Given the description of an element on the screen output the (x, y) to click on. 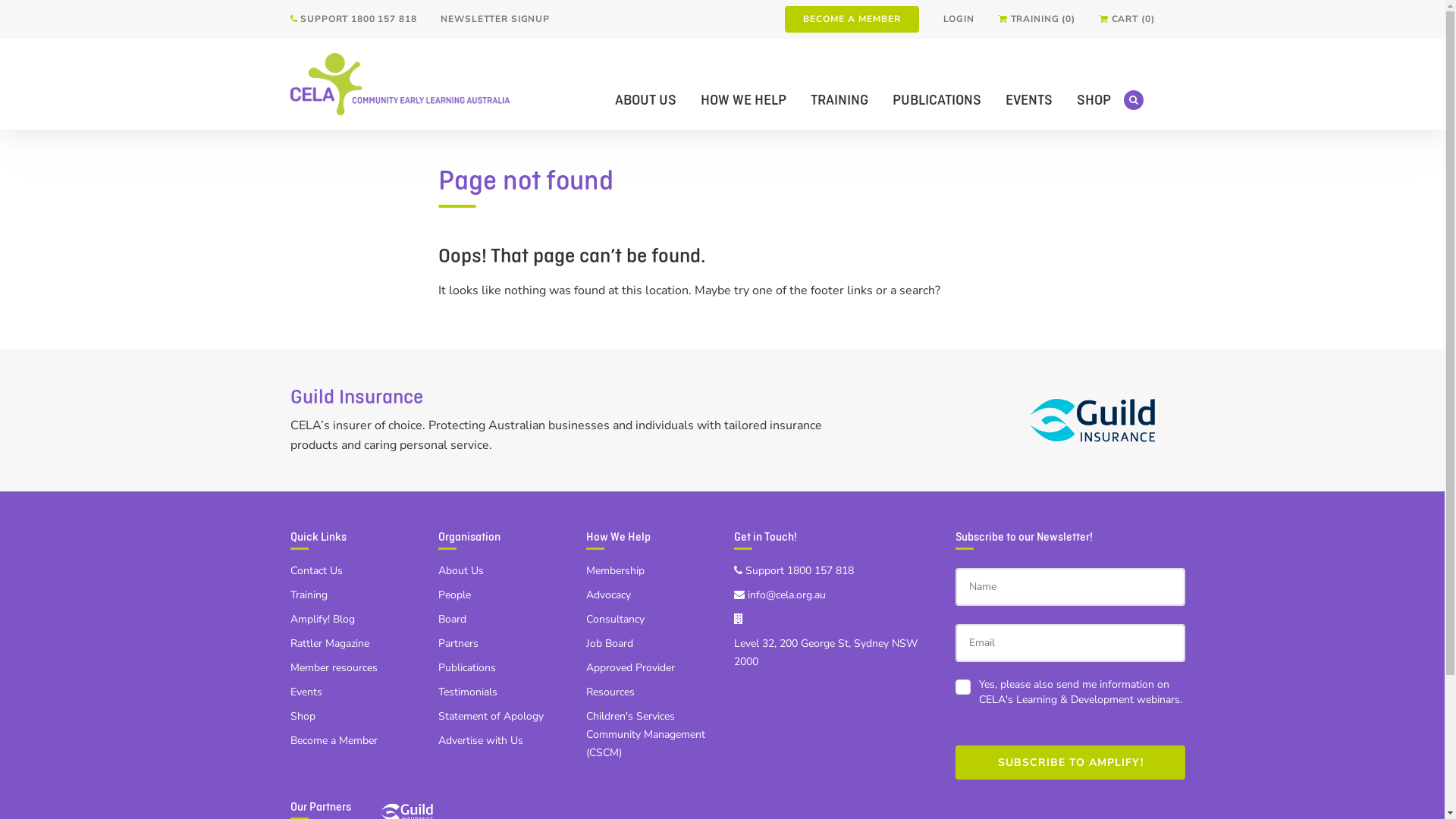
Training Element type: text (307, 594)
PUBLICATIONS Element type: text (935, 99)
Rattler Magazine Element type: text (328, 643)
CART (0) Element type: text (1126, 19)
Approved Provider Element type: text (629, 667)
Subscribe to Amplify! Element type: text (1070, 762)
Become a Member Element type: text (332, 740)
Testimonials Element type: text (467, 691)
Support 1800 157 818 Element type: text (793, 570)
Shop Element type: text (301, 716)
BECOME A MEMBER Element type: text (851, 19)
Children's Services Community Management (CSCM) Element type: text (644, 734)
Amplify! Blog Element type: text (321, 618)
Advertise with Us Element type: text (480, 740)
Partners Element type: text (458, 643)
SHOP Element type: text (1093, 99)
About Us Element type: text (460, 570)
Member resources Element type: text (332, 667)
info@cela.org.au Element type: text (779, 594)
Events Element type: text (305, 691)
TRAINING Element type: text (838, 99)
TRAINING (0) Element type: text (1036, 19)
EVENTS Element type: text (1028, 99)
People Element type: text (454, 594)
Statement of Apology Element type: text (490, 716)
Contact Us Element type: text (315, 570)
HOW WE HELP Element type: text (743, 99)
Membership Element type: text (614, 570)
Resources Element type: text (609, 691)
Job Board Element type: text (608, 643)
LOGIN Element type: text (958, 19)
SUPPORT 1800 157 818 Element type: text (352, 19)
Advocacy Element type: text (607, 594)
Board Element type: text (452, 618)
NEWSLETTER SIGNUP Element type: text (494, 19)
ABOUT US Element type: text (644, 99)
Consultancy Element type: text (614, 618)
Publications Element type: text (466, 667)
